Given the description of an element on the screen output the (x, y) to click on. 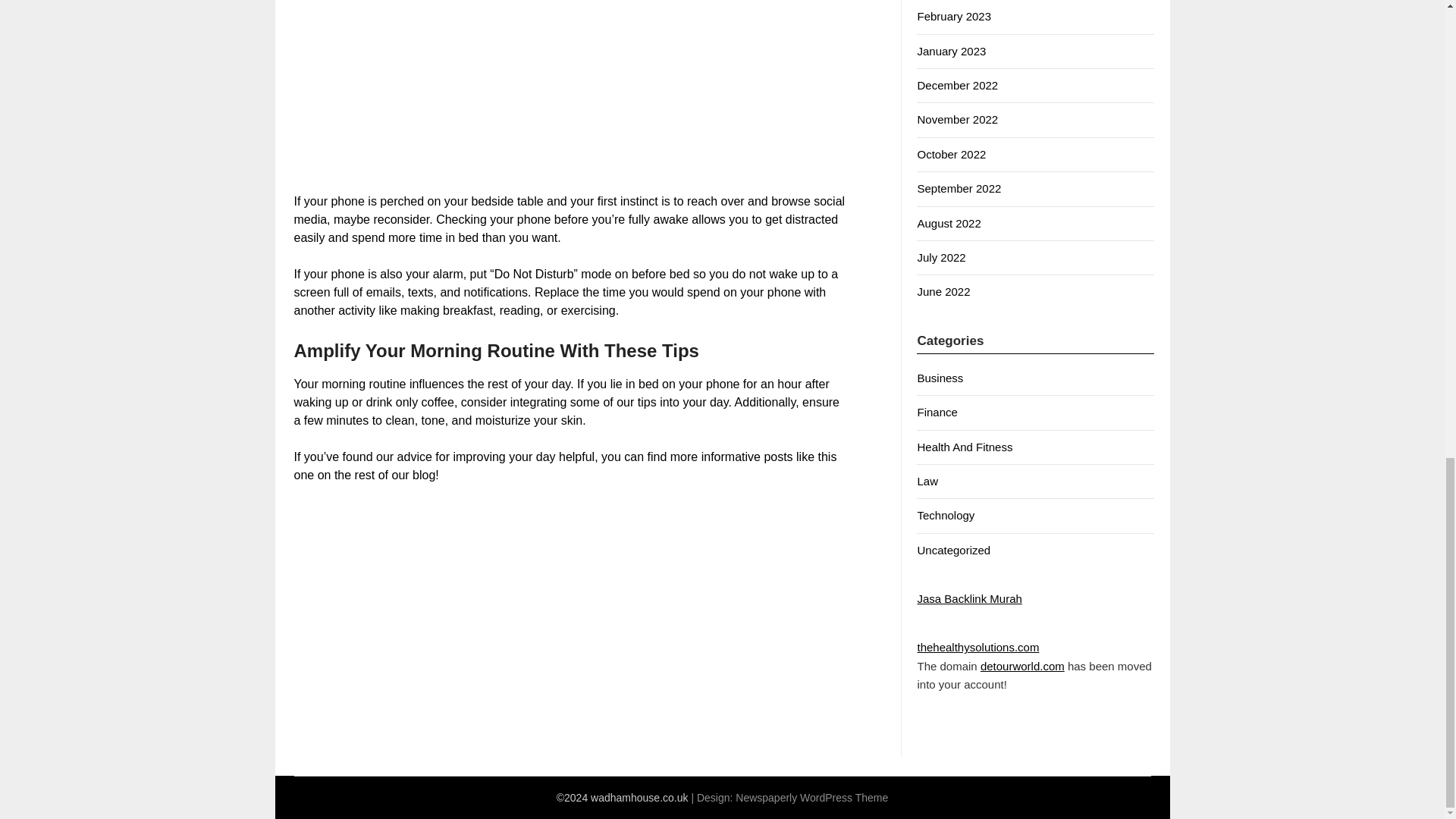
5 Things You Should Include in Your Morning Routine (570, 87)
February 2023 (954, 15)
January 2023 (951, 51)
